Given the description of an element on the screen output the (x, y) to click on. 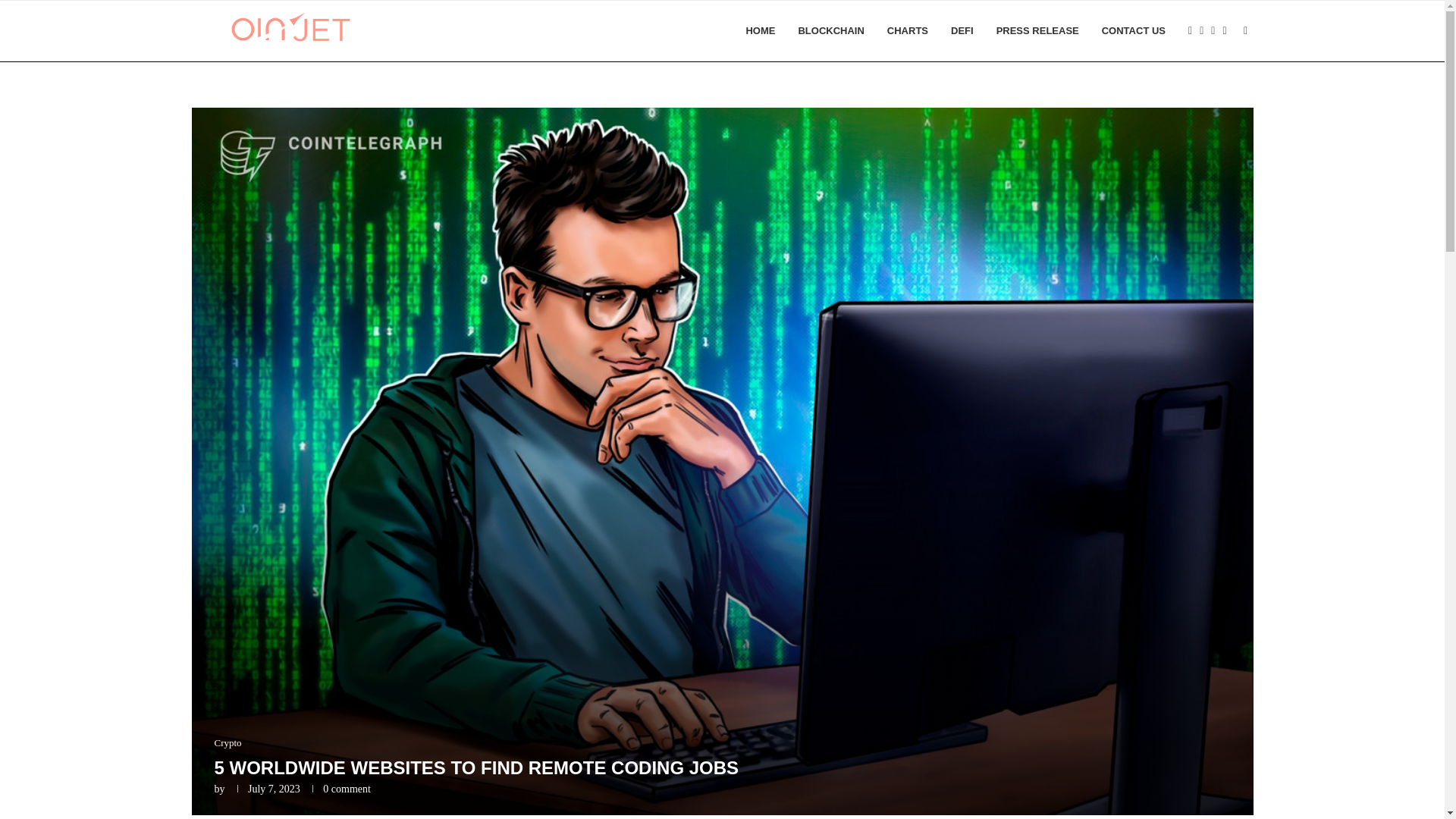
CONTACT US (1134, 30)
Crypto (227, 743)
BLOCKCHAIN (830, 30)
PRESS RELEASE (1036, 30)
